Given the description of an element on the screen output the (x, y) to click on. 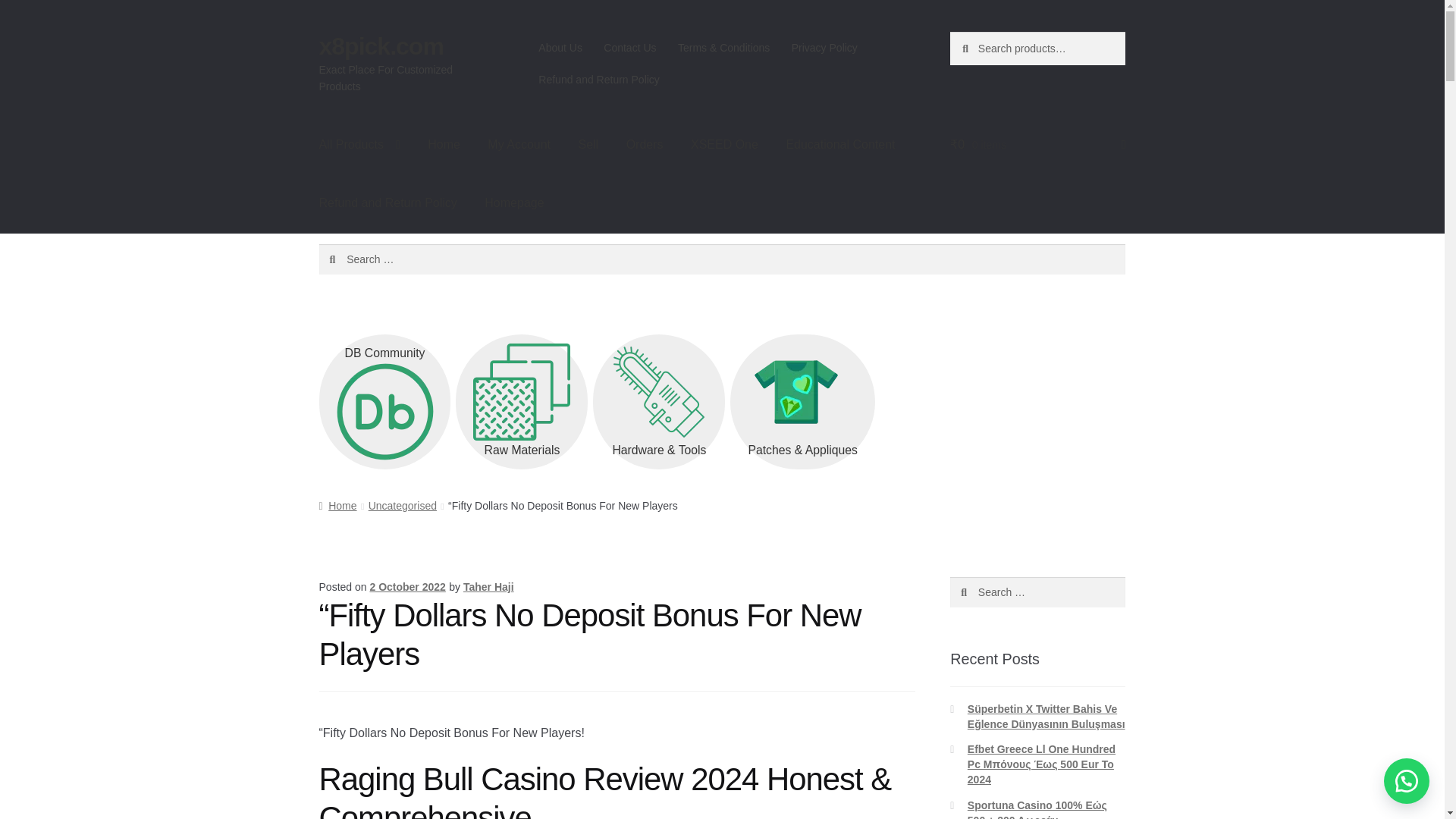
Privacy Policy (823, 47)
Orders (644, 144)
Homepage (513, 202)
XSEED One (724, 144)
